Given the description of an element on the screen output the (x, y) to click on. 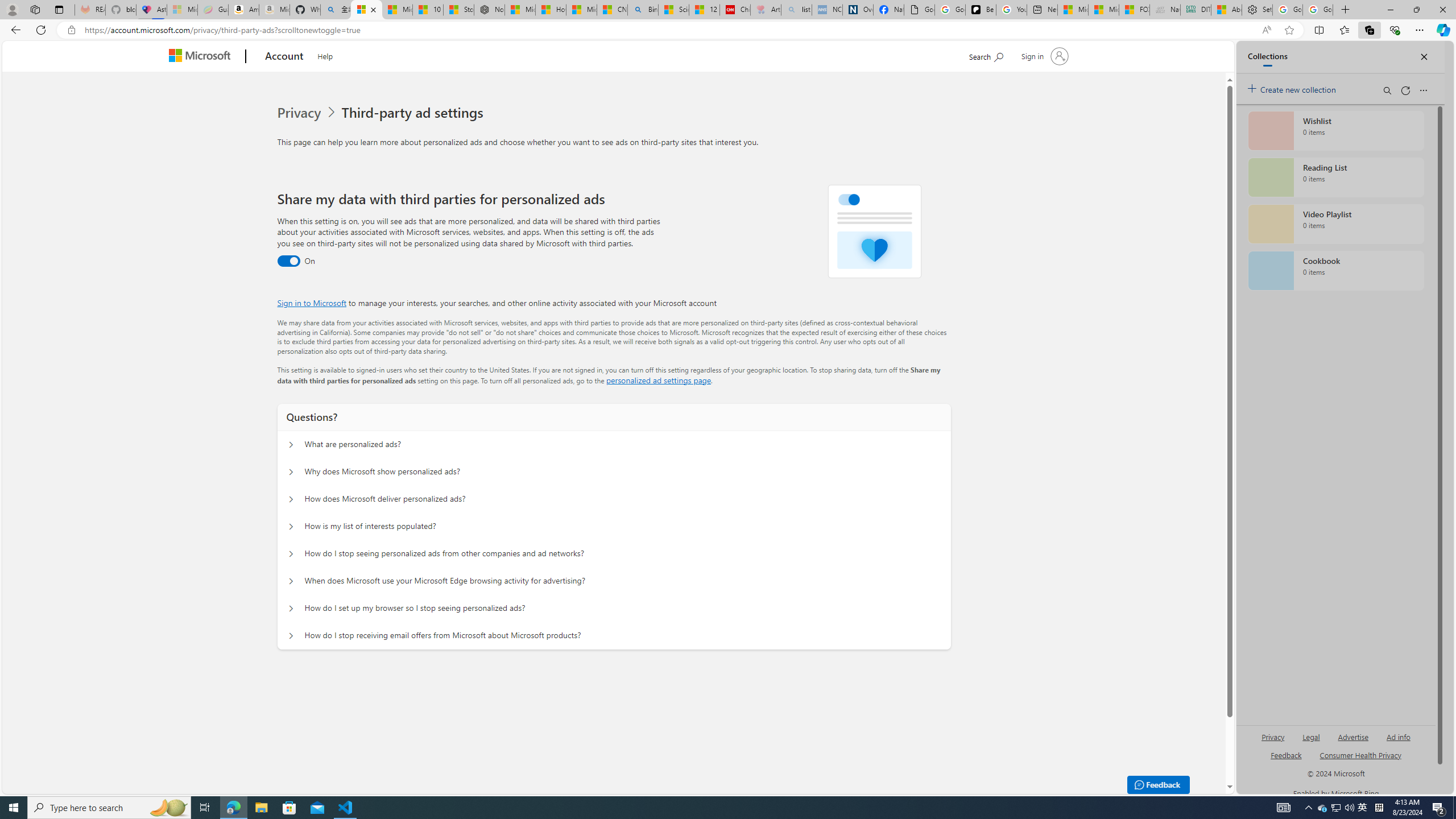
Close tab (373, 9)
Close (1442, 9)
Collections (1369, 29)
Sign in to Microsoft (311, 302)
Google Analytics Opt-out Browser Add-on Download Page (919, 9)
Questions? What are personalized ads? (290, 444)
Privacy (299, 112)
Third-party ad settings (414, 112)
AutomationID: sb_feedback (1286, 754)
Asthma Inhalers: Names and Types (151, 9)
12 Popular Science Lies that Must be Corrected (704, 9)
